Given the description of an element on the screen output the (x, y) to click on. 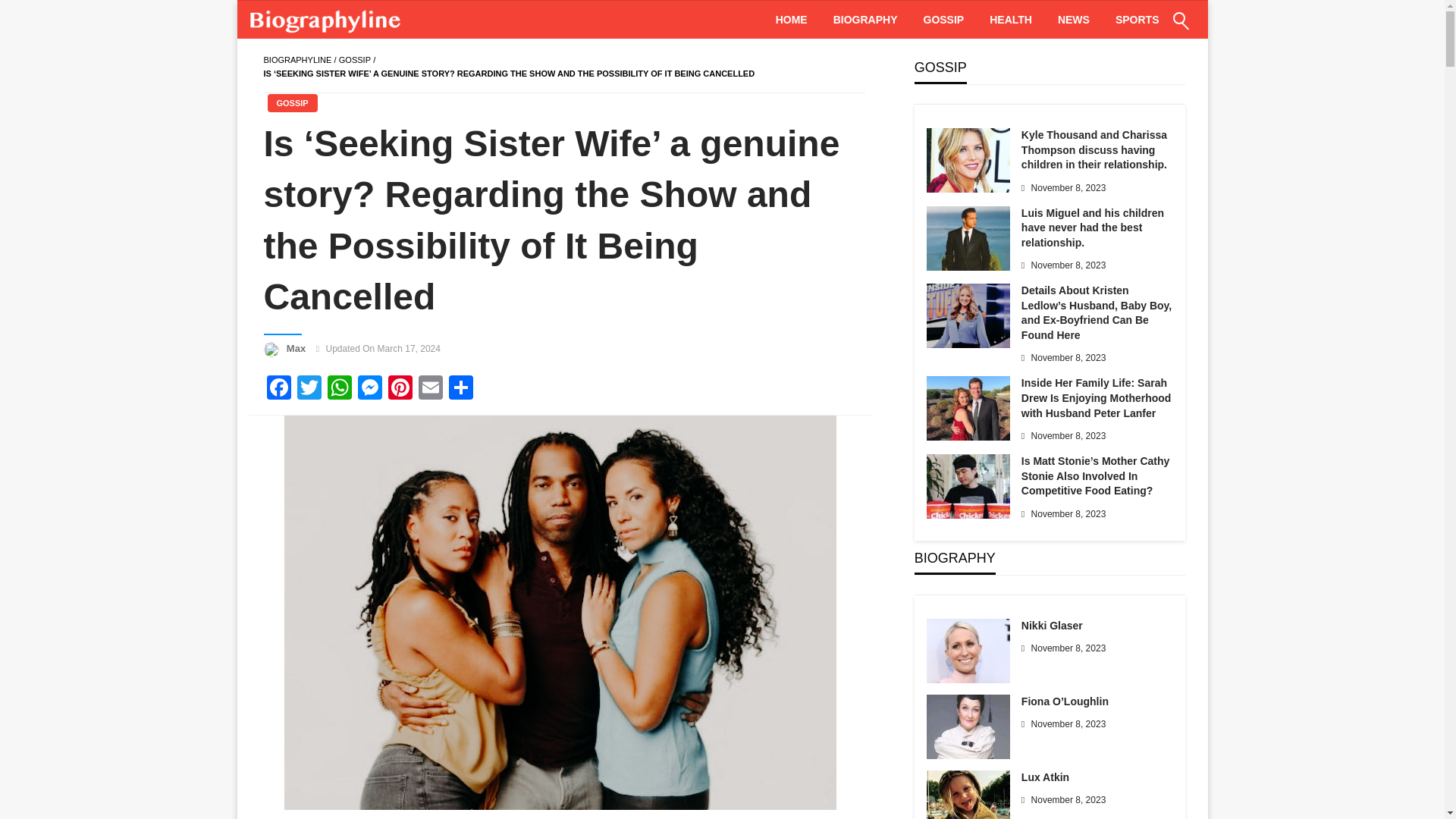
Search (1144, 30)
Twitter (309, 389)
GOSSIP (291, 103)
SPORTS (1137, 19)
HEALTH (1010, 19)
Pinterest (399, 389)
NEWS (1073, 19)
Messenger (370, 389)
Facebook (278, 389)
BIOGRAPHYLINE (297, 59)
Email (429, 389)
Gossip (355, 59)
Facebook (278, 389)
Pinterest (399, 389)
HOME (791, 19)
